Given the description of an element on the screen output the (x, y) to click on. 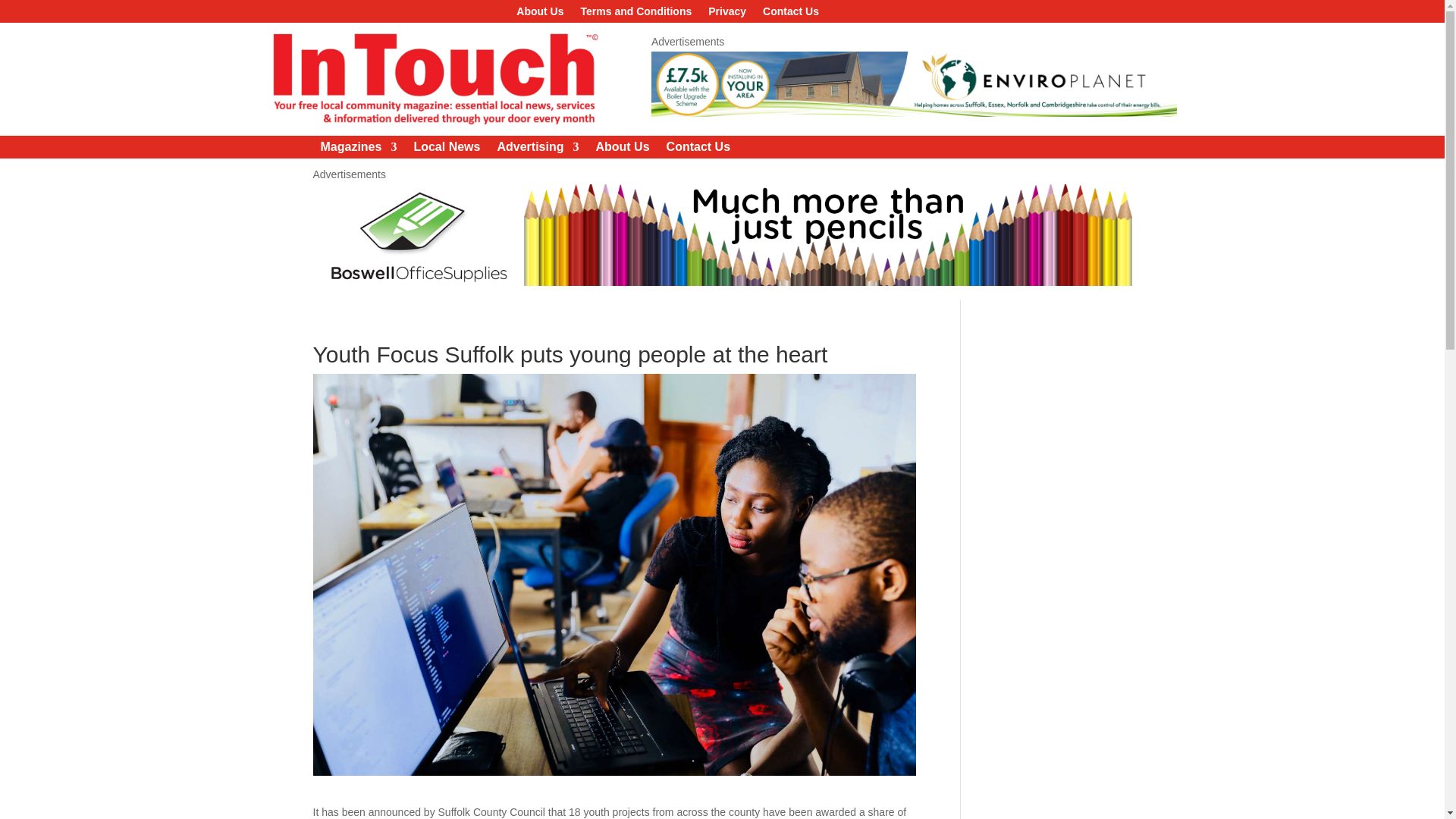
About Us (539, 13)
InTouch Logo (432, 78)
Advertising (537, 149)
Terms and Conditions (636, 13)
Contact Us (698, 149)
About Us (622, 149)
Privacy (726, 13)
Contact Us (790, 13)
Magazines (358, 149)
Local News (446, 149)
